Given the description of an element on the screen output the (x, y) to click on. 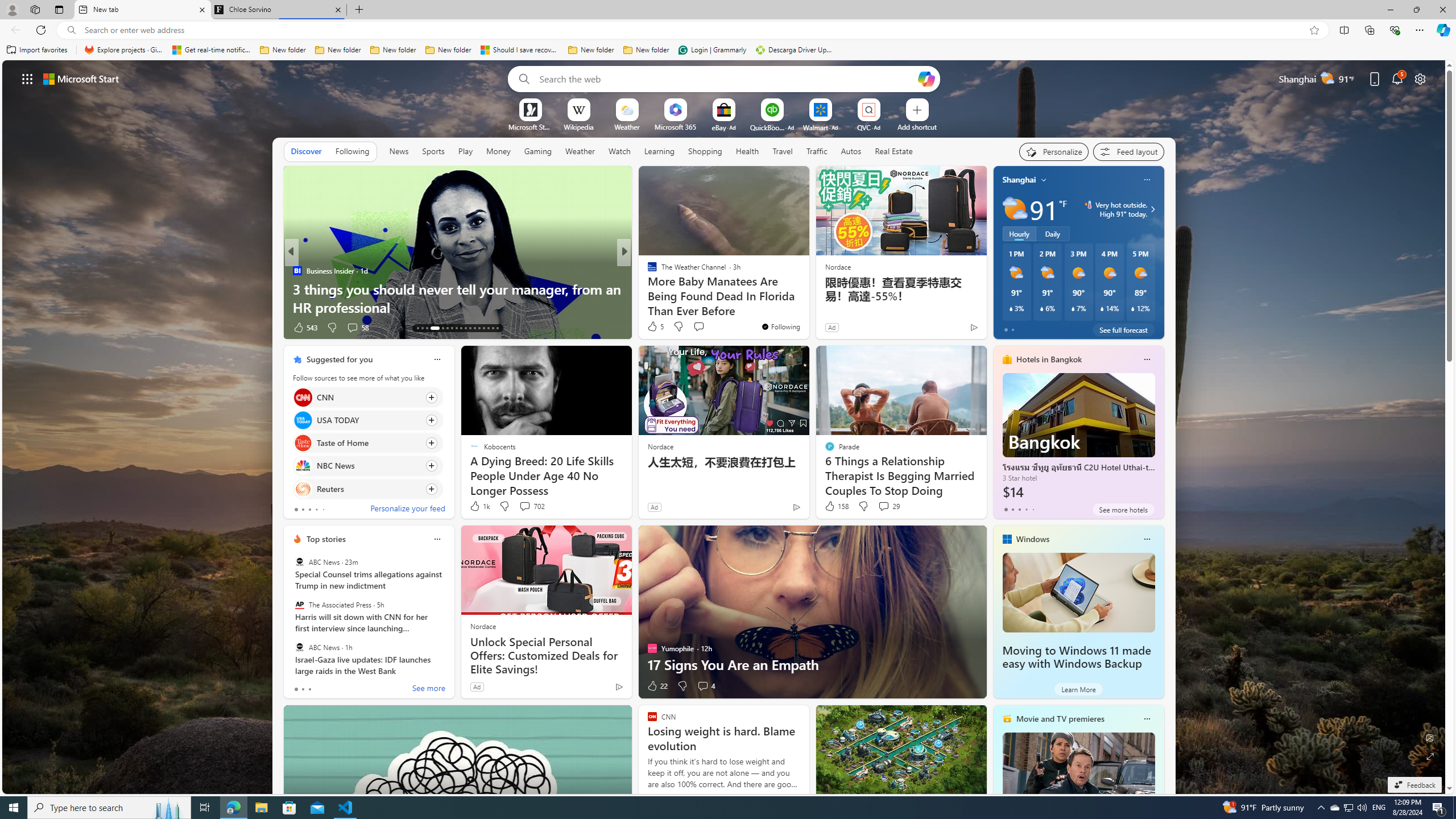
CNBC (647, 270)
App launcher (27, 78)
tab-3 (1025, 509)
Enter your search term (726, 78)
tab-0 (295, 689)
View comments 247 Comment (703, 327)
Suggested for you (338, 359)
Feed settings (1128, 151)
93 Like (652, 327)
Partly sunny (1014, 208)
